Given the description of an element on the screen output the (x, y) to click on. 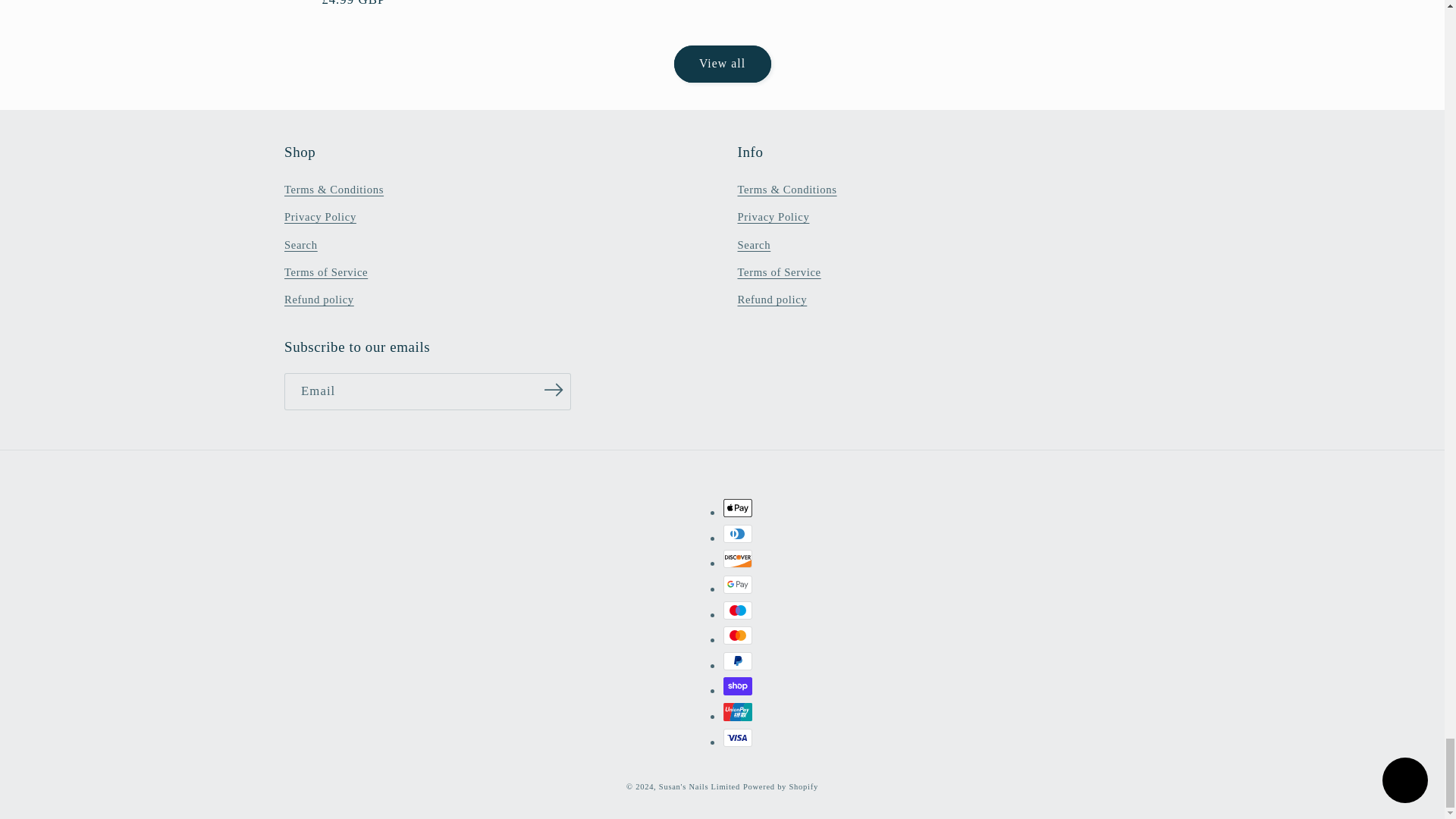
Diners Club (737, 533)
Discover (737, 558)
Apple Pay (737, 507)
